Given the description of an element on the screen output the (x, y) to click on. 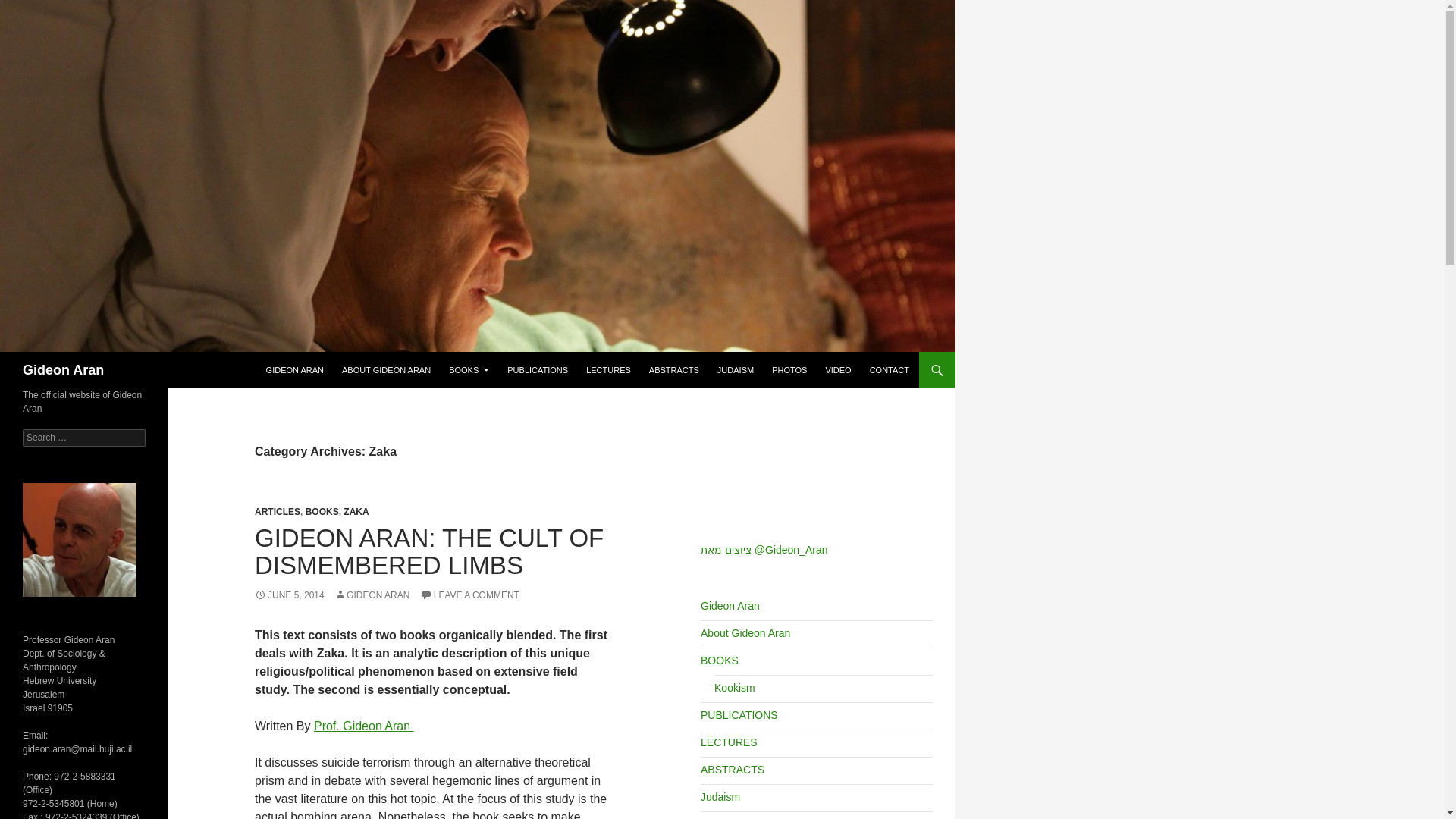
GIDEON ARAN: THE CULT OF DISMEMBERED LIMBS (429, 551)
Prof. Gideon Aran  (363, 725)
JUDAISM (734, 370)
Gideon Aran (63, 370)
BOOKS (468, 370)
LEAVE A COMMENT (469, 594)
GIDEON ARAN (295, 370)
Prof. Gideon Aran  (363, 725)
LECTURES (608, 370)
CONTACT (889, 370)
VIDEO (837, 370)
JUNE 5, 2014 (289, 594)
BOOKS (322, 511)
